Given the description of an element on the screen output the (x, y) to click on. 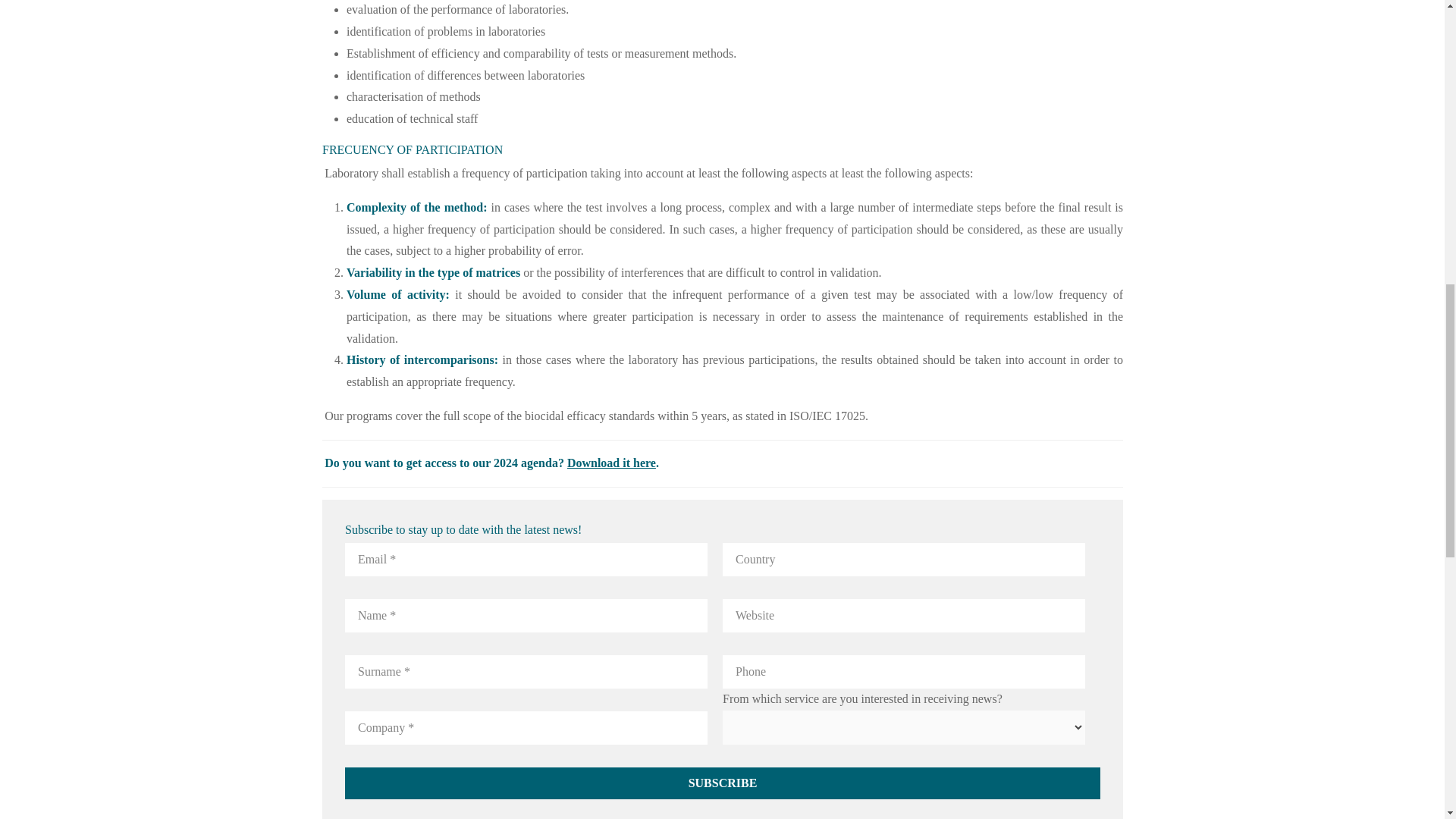
Subscribe (721, 783)
